Given the description of an element on the screen output the (x, y) to click on. 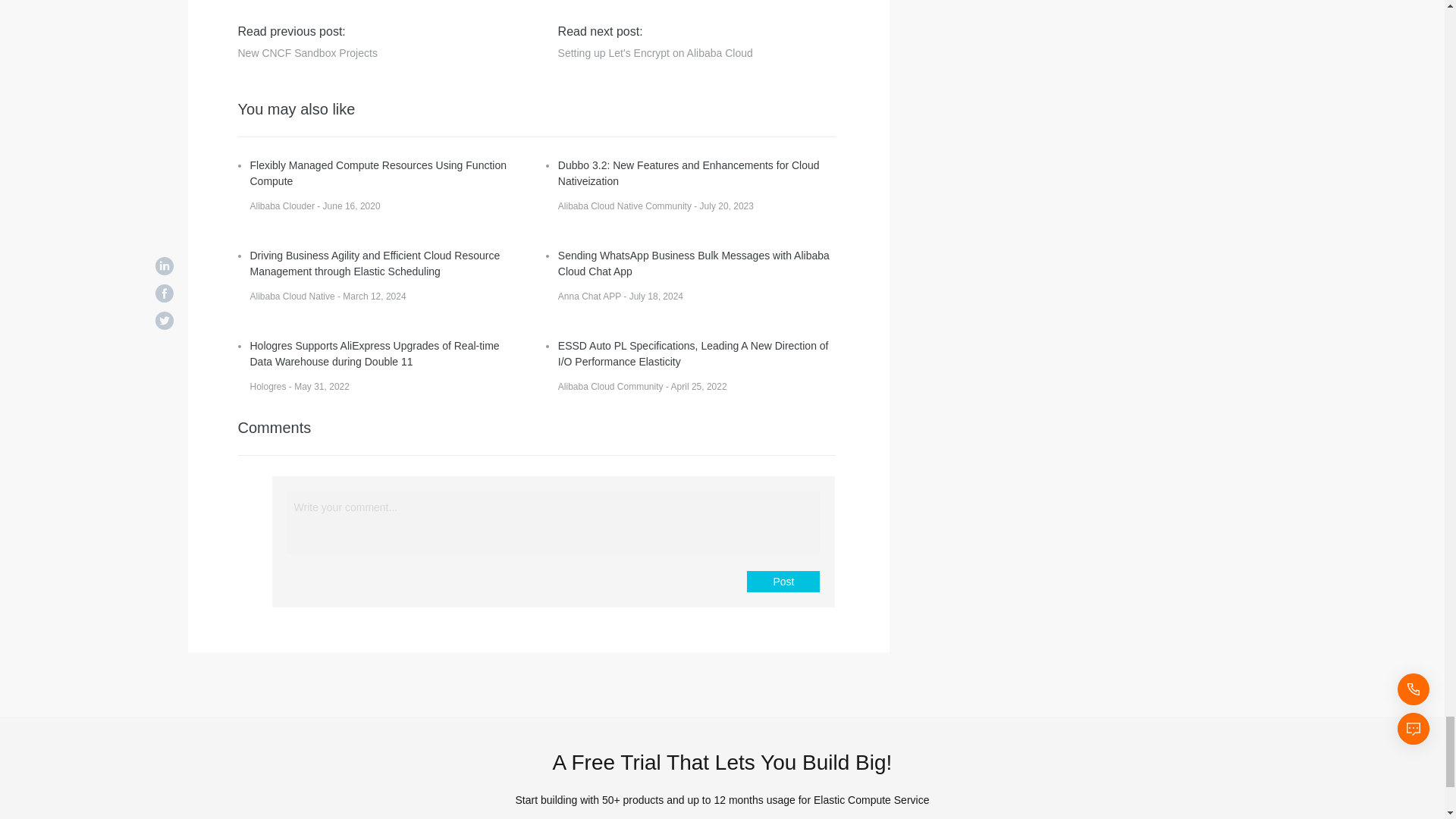
View site linkedin (746, 2)
View site facebook (785, 2)
View site twitter (823, 2)
